Given the description of an element on the screen output the (x, y) to click on. 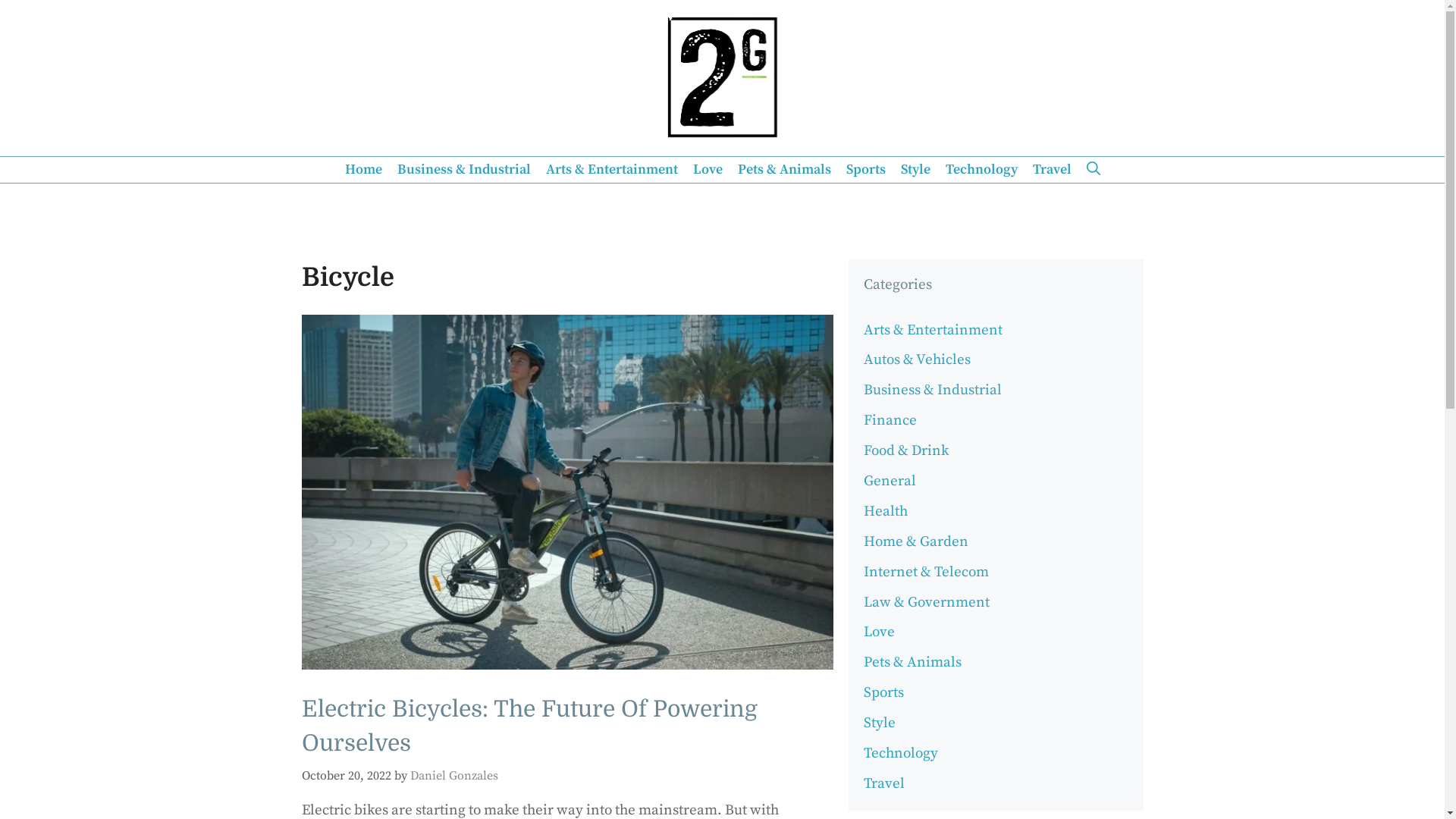
Style Element type: text (915, 169)
Home Element type: text (362, 169)
Health Element type: text (885, 511)
Home & Garden Element type: text (915, 541)
Technology Element type: text (980, 169)
Pets & Animals Element type: text (783, 169)
Electric Bicycles: The Future Of Powering Ourselves Element type: text (529, 726)
Business & Industrial Element type: text (932, 389)
Finance Element type: text (889, 420)
Love Element type: text (878, 631)
Law & Government Element type: text (926, 602)
Sports Element type: text (865, 169)
Love Element type: text (707, 169)
Business & Industrial Element type: text (463, 169)
Travel Element type: text (883, 783)
Sports Element type: text (883, 692)
Style Element type: text (879, 722)
Arts & Entertainment Element type: text (611, 169)
Arts & Entertainment Element type: text (932, 329)
Internet & Telecom Element type: text (925, 571)
Daniel Gonzales Element type: text (453, 775)
Food & Drink Element type: text (905, 450)
Autos & Vehicles Element type: text (916, 359)
Pets & Animals Element type: text (912, 662)
Travel Element type: text (1052, 169)
Technology Element type: text (900, 753)
General Element type: text (889, 480)
